Given the description of an element on the screen output the (x, y) to click on. 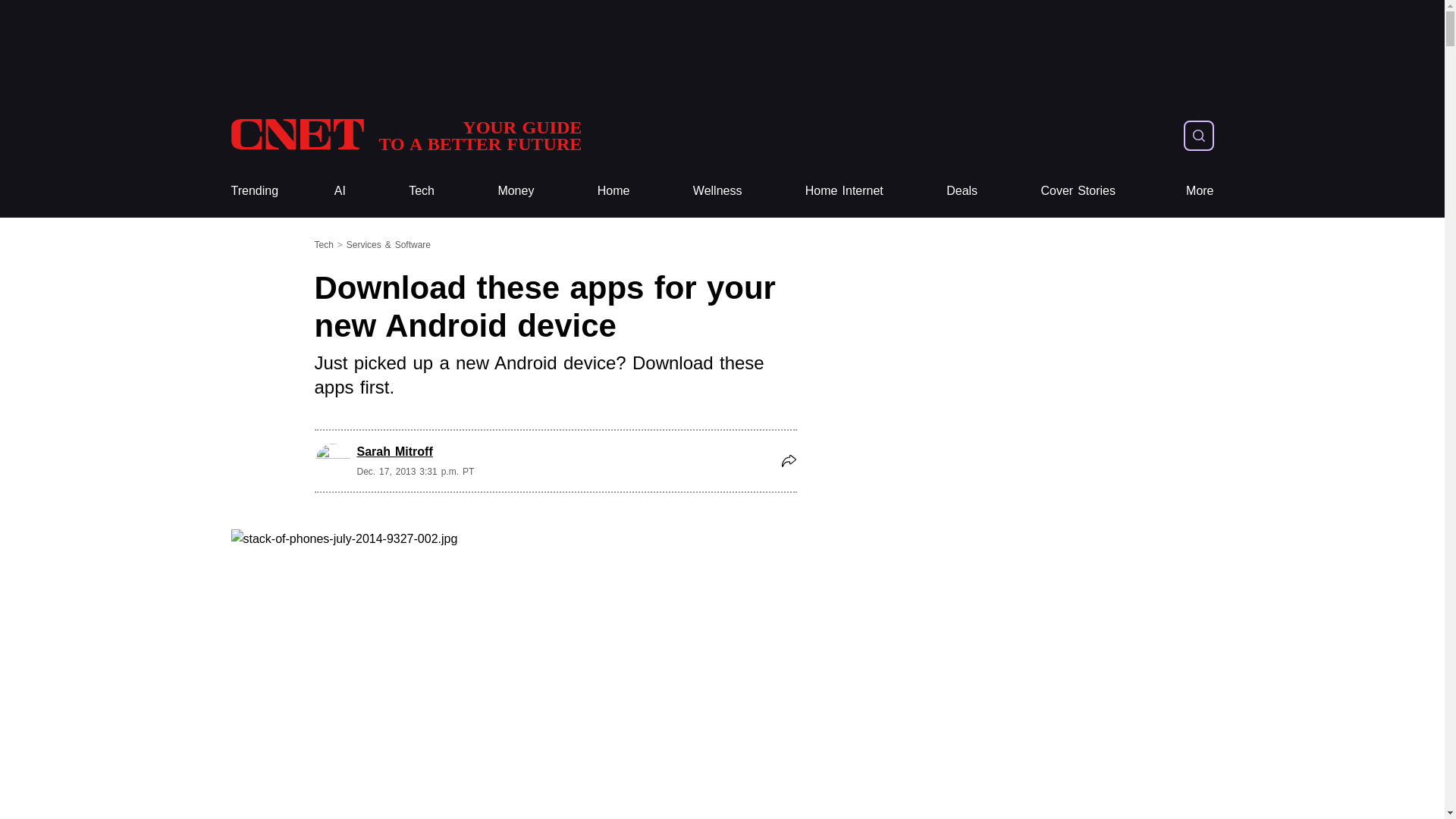
Wellness (717, 190)
Money (515, 190)
Tech (421, 190)
Cover Stories (1078, 190)
Deals (961, 190)
CNET (405, 135)
Trending (254, 190)
Trending (254, 190)
Home (613, 190)
Tech (421, 190)
